Given the description of an element on the screen output the (x, y) to click on. 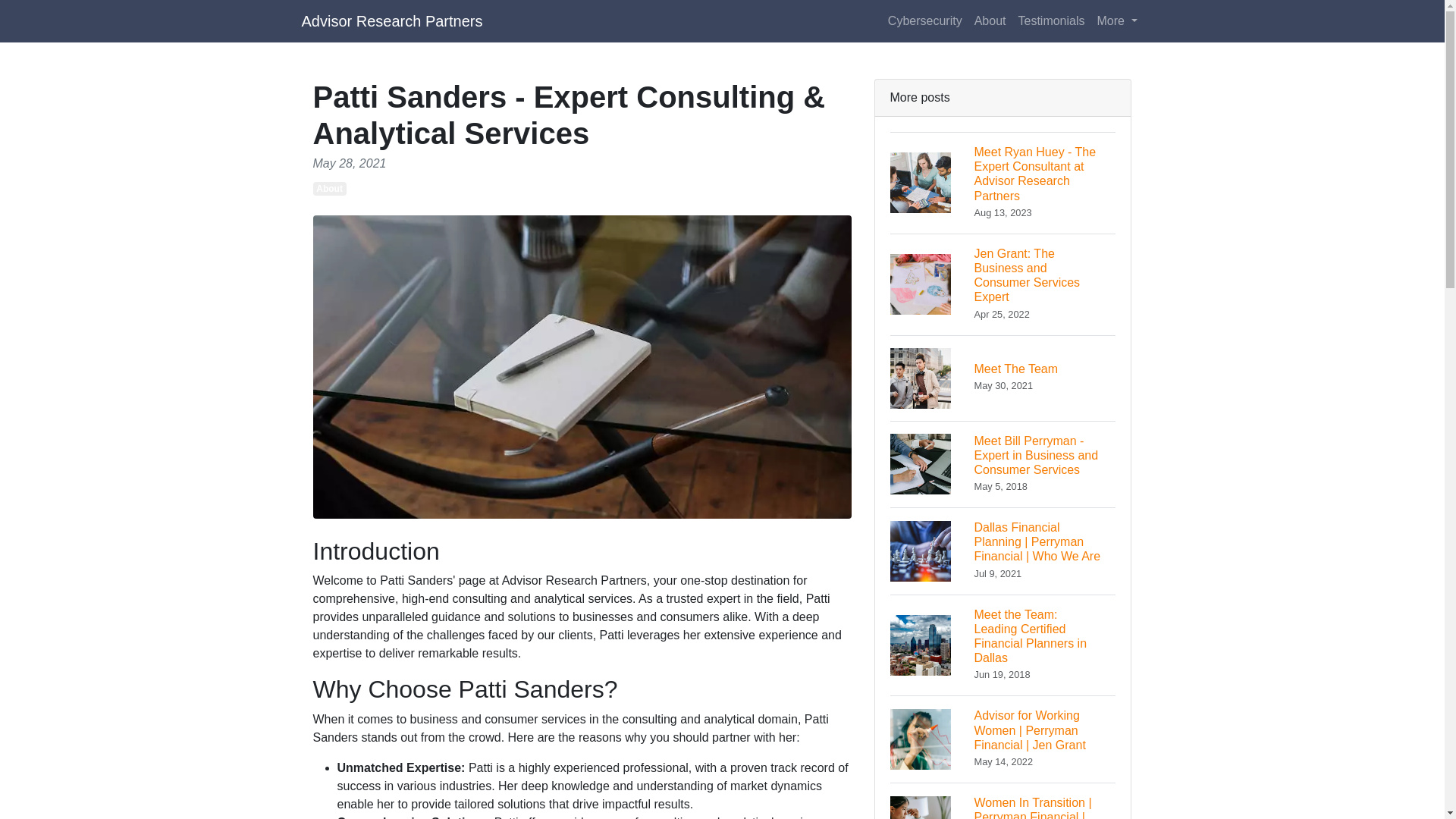
About (989, 20)
About (329, 188)
Advisor Research Partners (1002, 377)
Testimonials (392, 20)
More (1050, 20)
Cybersecurity (1116, 20)
